Given the description of an element on the screen output the (x, y) to click on. 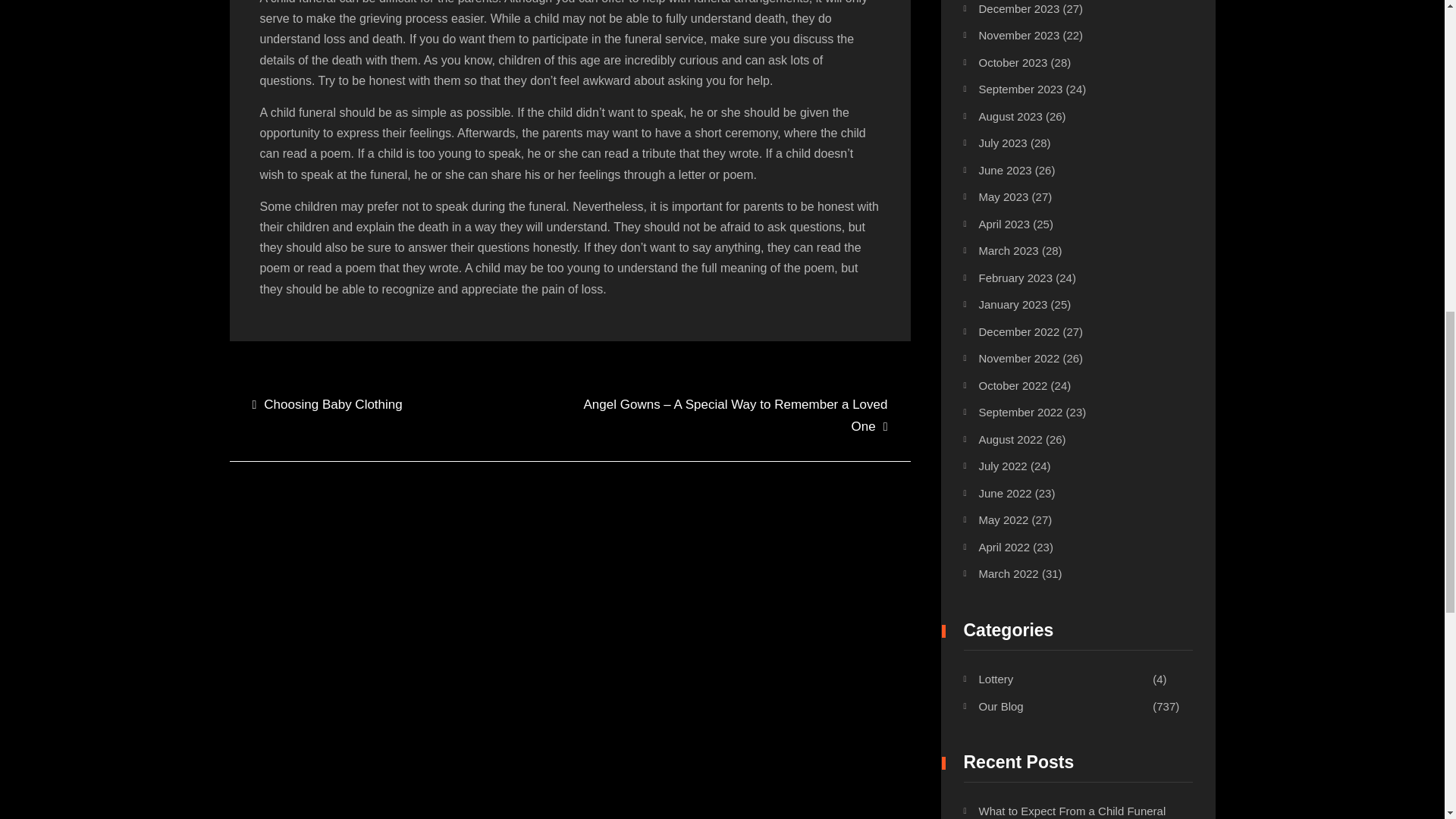
January 2023 (1012, 304)
September 2023 (1020, 88)
March 2023 (1008, 250)
February 2023 (1015, 277)
April 2023 (1003, 223)
October 2023 (1012, 62)
December 2022 (1018, 331)
June 2023 (1004, 169)
Choosing Baby Clothing (326, 404)
July 2023 (1002, 142)
November 2023 (1018, 34)
December 2023 (1018, 8)
August 2023 (1010, 115)
May 2023 (1002, 196)
